Given the description of an element on the screen output the (x, y) to click on. 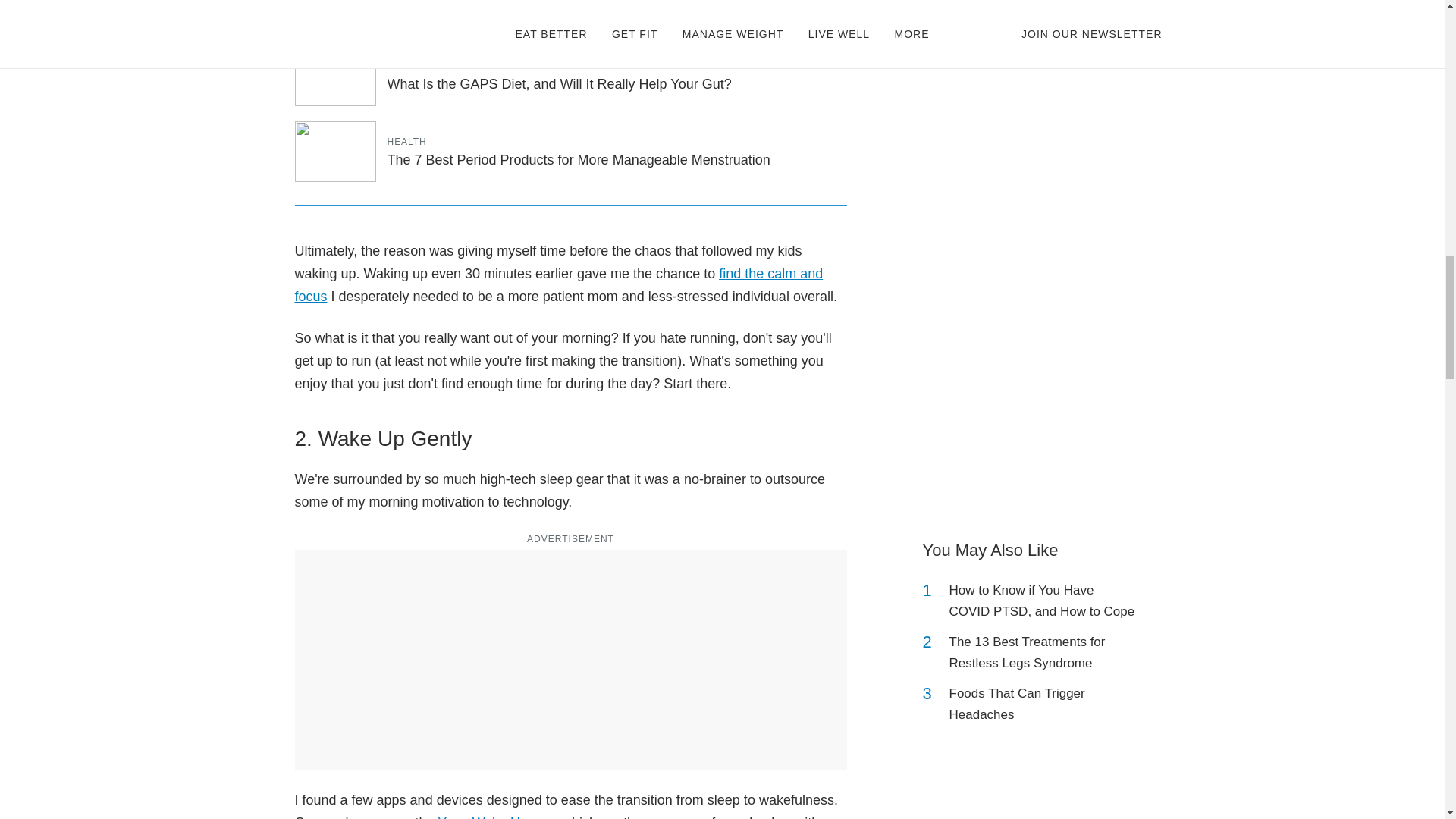
Yoga Wake Up app (496, 816)
What Is the GAPS Diet, and Will It Really Help Your Gut? (558, 83)
The 7 Best Period Products for More Manageable Menstruation (578, 159)
How to Know if You Have COVID PTSD, and How to Cope (1042, 600)
The 13 Best Treatments for Restless Legs Syndrome (1042, 652)
Foods That Can Trigger Headaches (1042, 704)
find the calm and focus (558, 284)
